Given the description of an element on the screen output the (x, y) to click on. 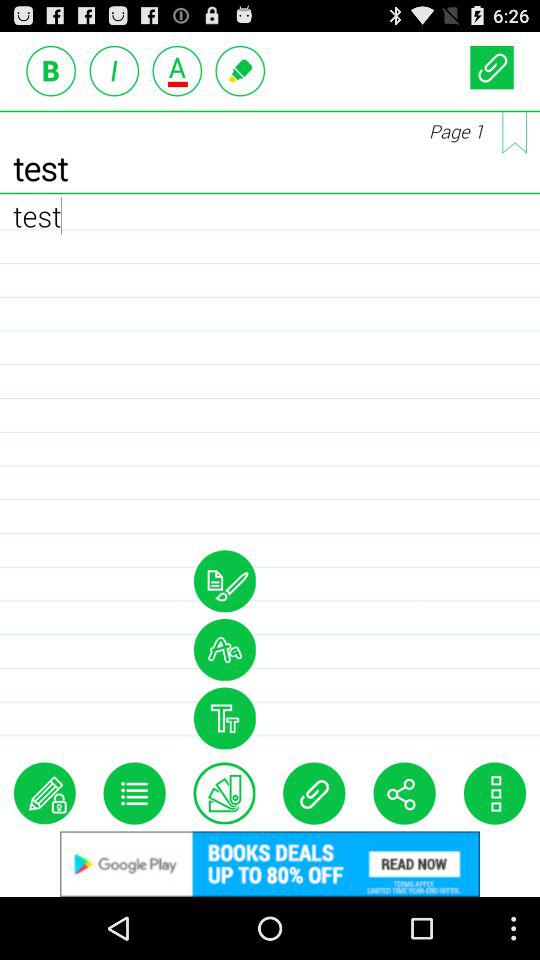
access writing element (240, 70)
